Given the description of an element on the screen output the (x, y) to click on. 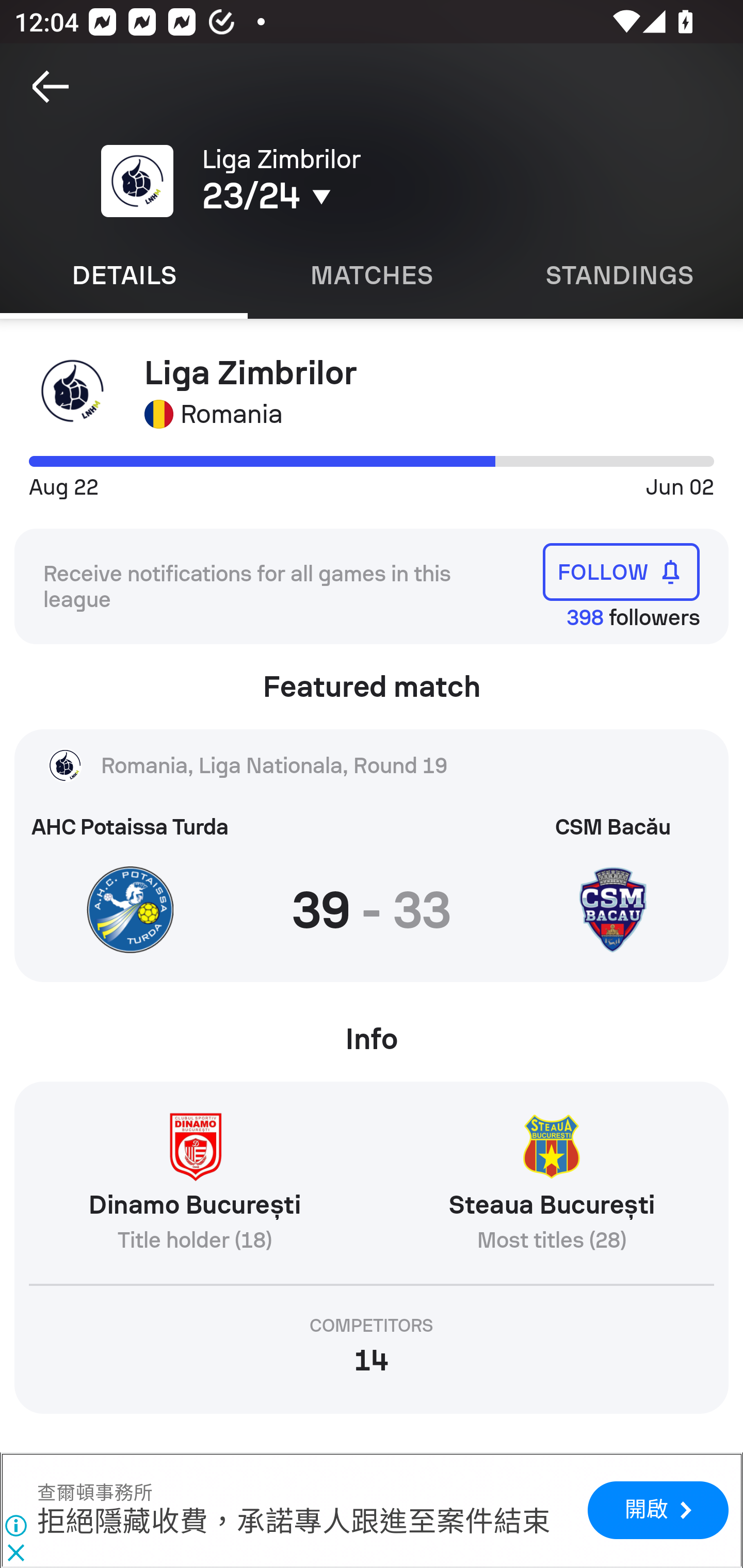
Navigate up (50, 86)
23/24 (350, 195)
Matches MATCHES (371, 275)
Standings STANDINGS (619, 275)
FOLLOW (621, 571)
Dinamo București Title holder (18) (194, 1190)
Steaua București Most titles (28) (551, 1190)
查爾頓事務所 (94, 1493)
開啟 (657, 1511)
拒絕隱藏收費，承諾專人跟進至案件結束 (293, 1523)
